Given the description of an element on the screen output the (x, y) to click on. 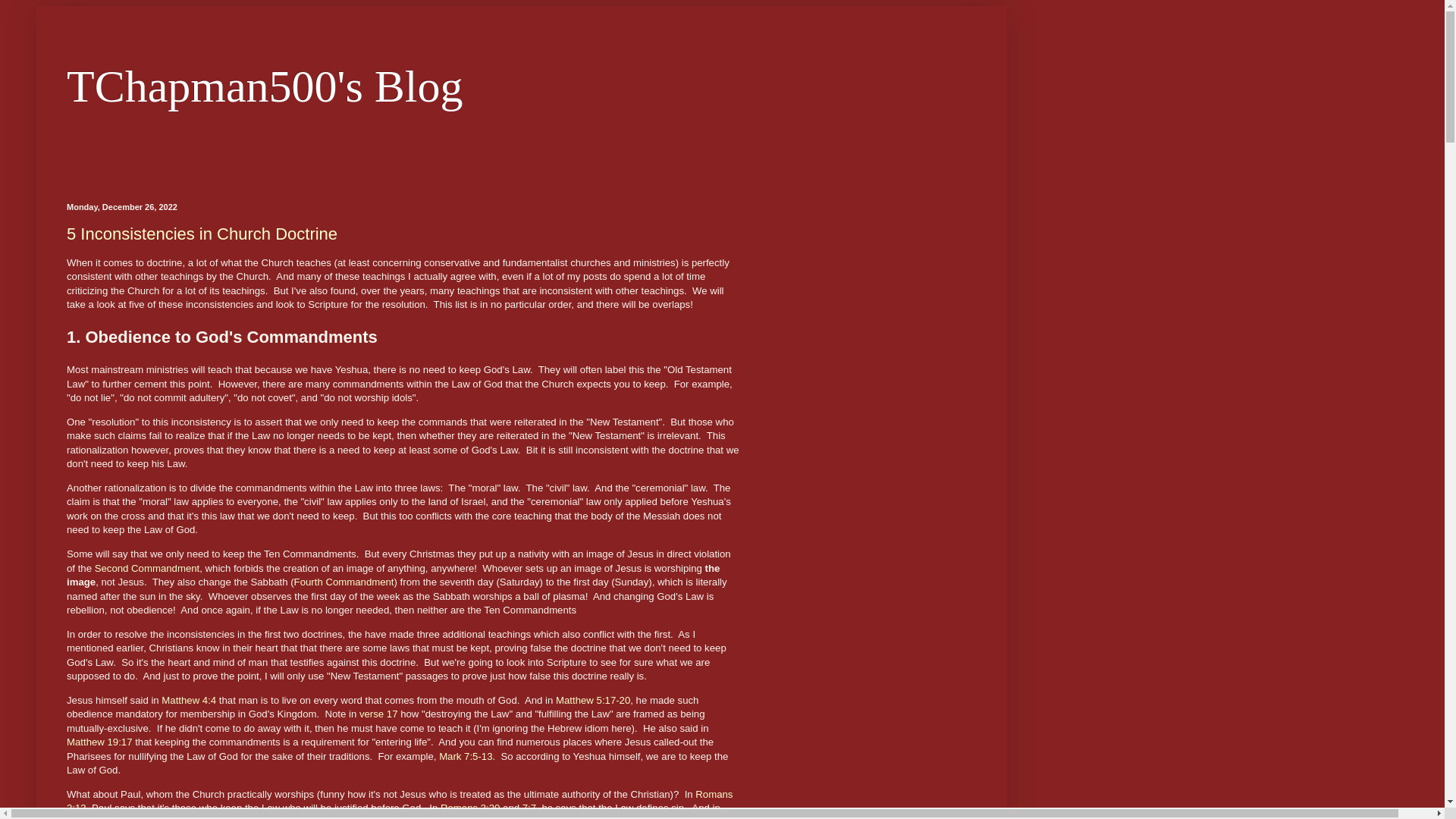
5 Inconsistencies in Church Doctrine (201, 233)
Romans 2:13 (399, 801)
Romans 3:31 (95, 817)
Fourth Commandment (344, 582)
Second Commandment (147, 568)
Matthew 19:17 (99, 741)
Mark 7:5-13 (465, 756)
Romans 3:20 (470, 808)
Matthew 4:4 (188, 699)
verse 17 (378, 713)
Matthew 5:17-20 (593, 699)
7:7 (528, 808)
TChapman500's Blog (264, 86)
